Given the description of an element on the screen output the (x, y) to click on. 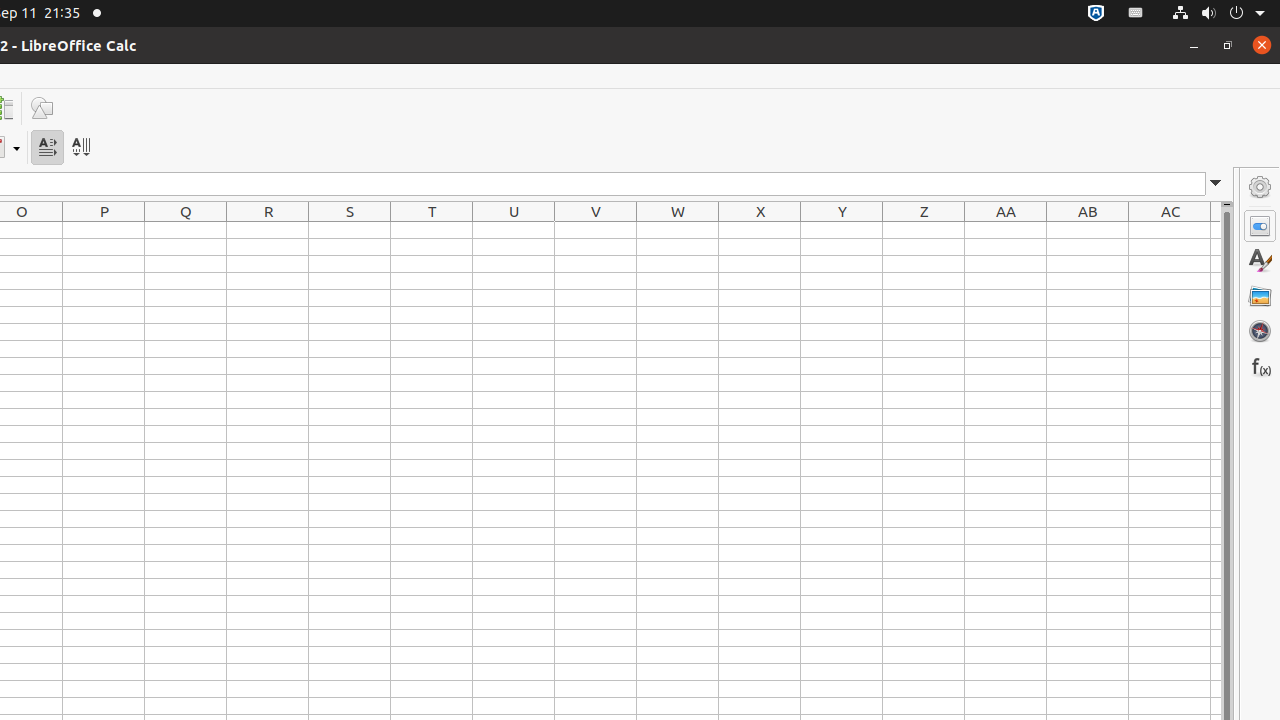
Properties Element type: radio-button (1260, 226)
